Given the description of an element on the screen output the (x, y) to click on. 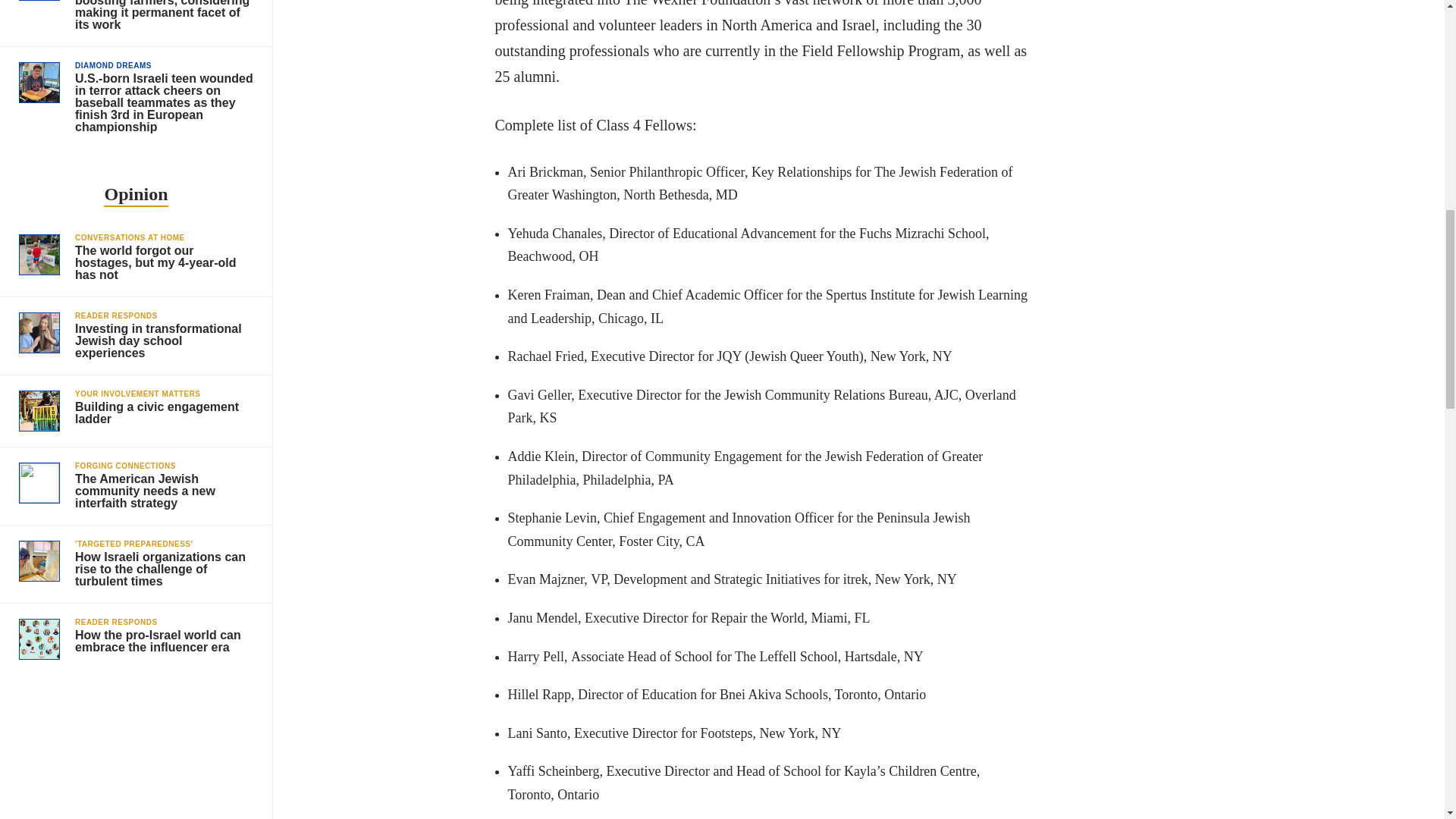
Opinion (135, 196)
